Given the description of an element on the screen output the (x, y) to click on. 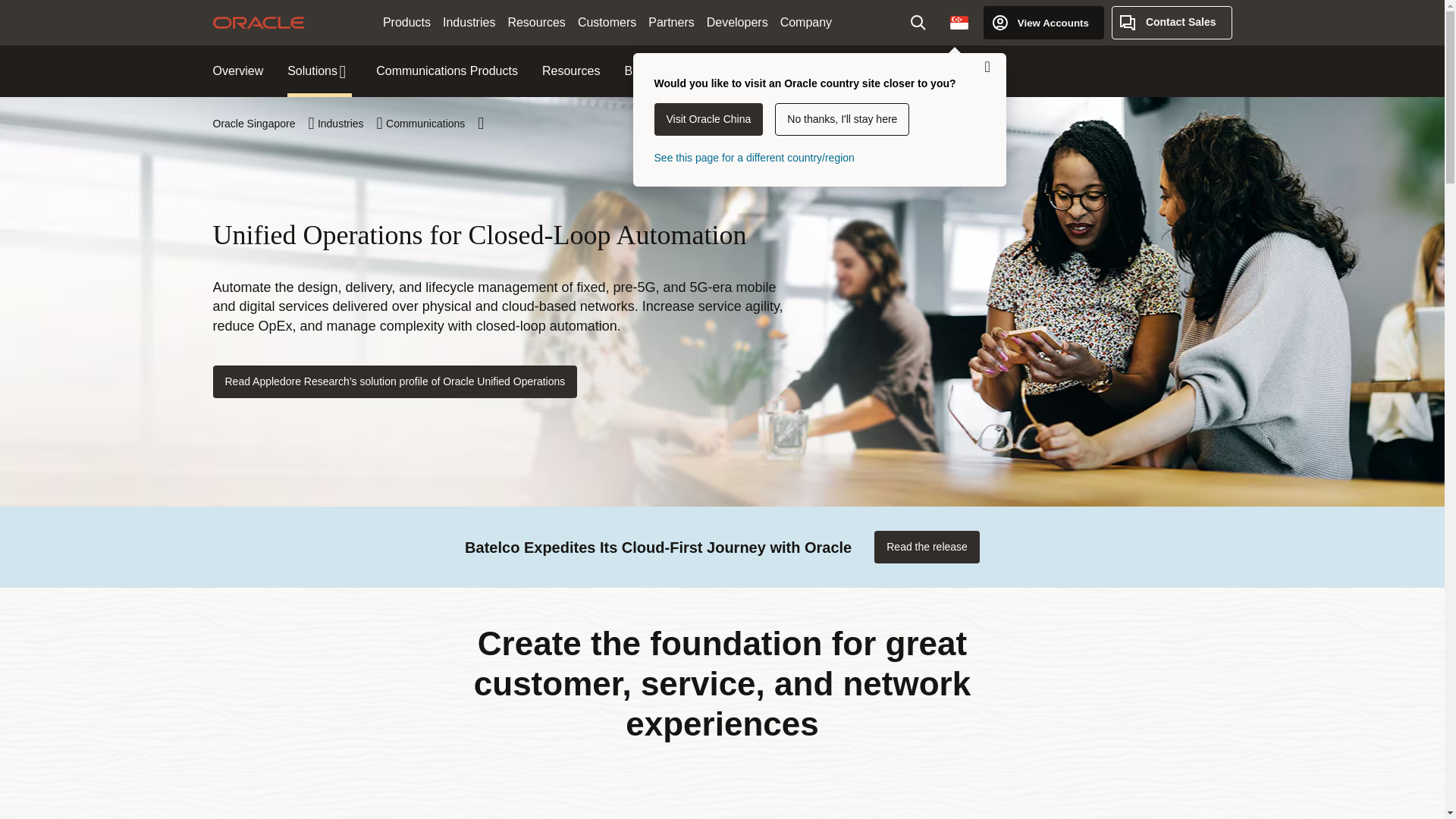
Industries (468, 22)
Contact Sales (1171, 22)
No thanks, I'll stay here (841, 119)
Company (806, 22)
Visit Oracle China (707, 119)
Overview (237, 71)
View Accounts (1043, 22)
Customers (607, 22)
Country (958, 22)
Contact Sales (1171, 22)
Products (406, 22)
Resources (535, 22)
Developers (737, 22)
Partners (671, 22)
